Given the description of an element on the screen output the (x, y) to click on. 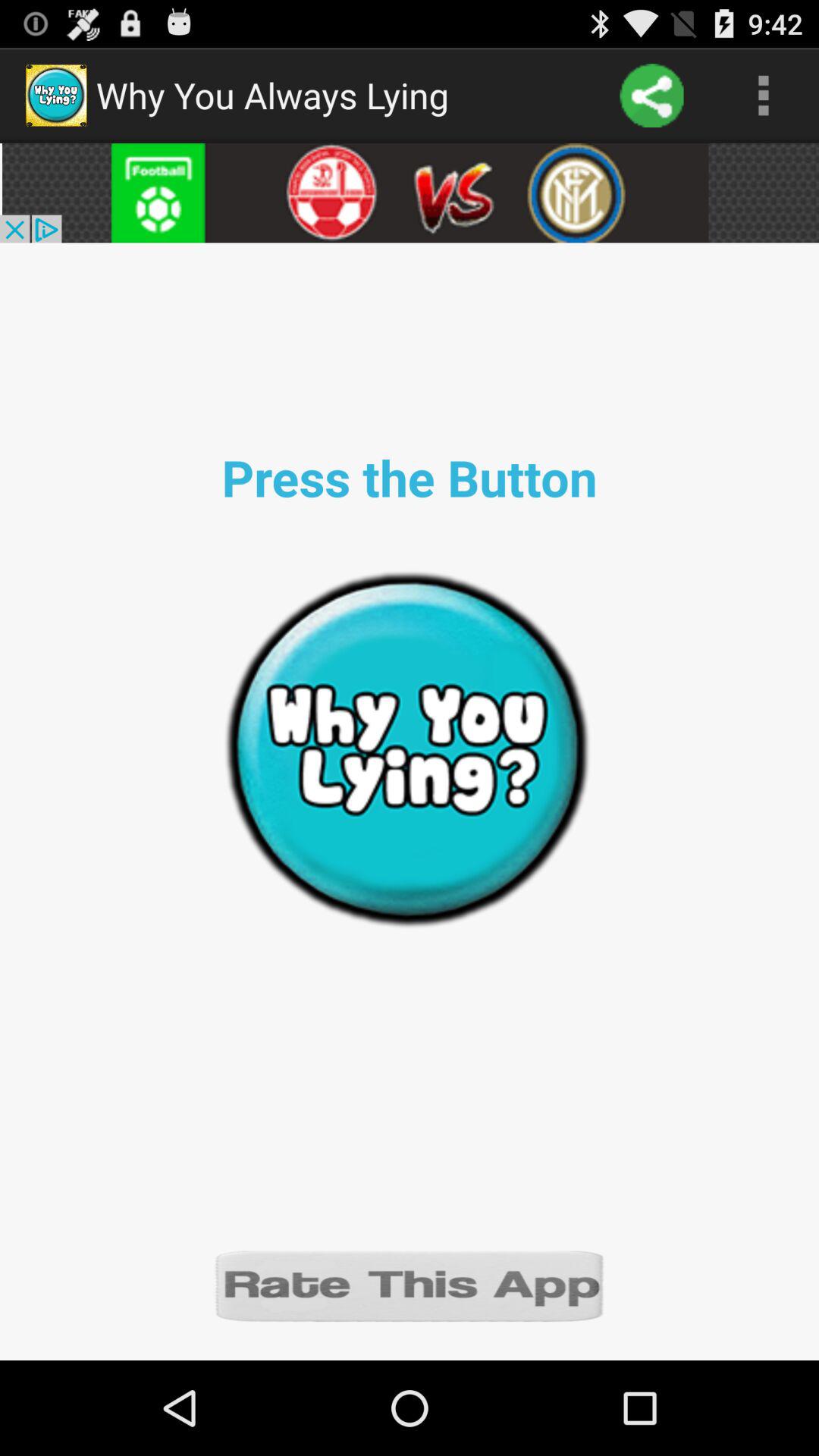
click to rate the app (409, 1285)
